Given the description of an element on the screen output the (x, y) to click on. 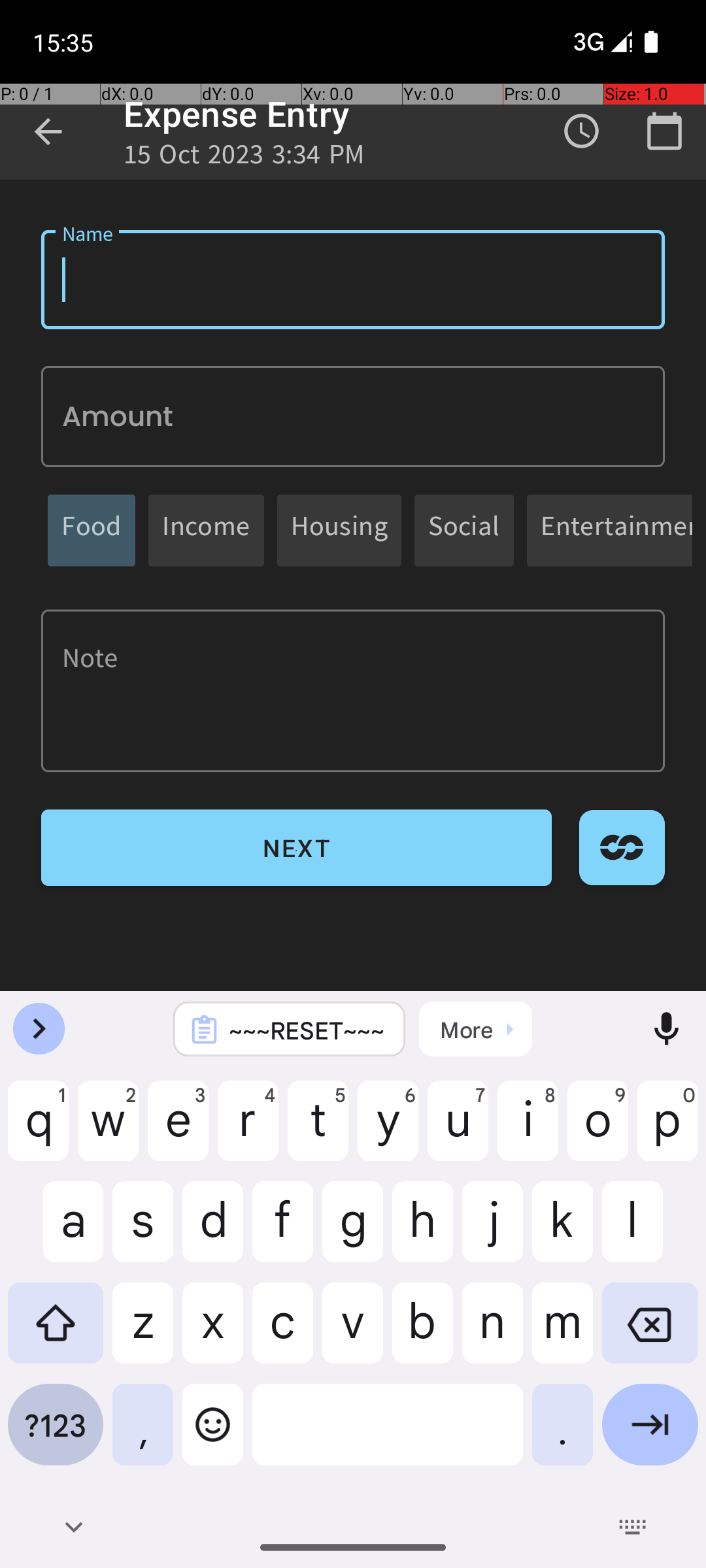
NEXT Element type: android.widget.Button (296, 847)
Click to open Clipboard Element type: android.view.ViewGroup (475, 1028)
~~~RESET~~~ Element type: android.widget.TextView (306, 1029)
